Given the description of an element on the screen output the (x, y) to click on. 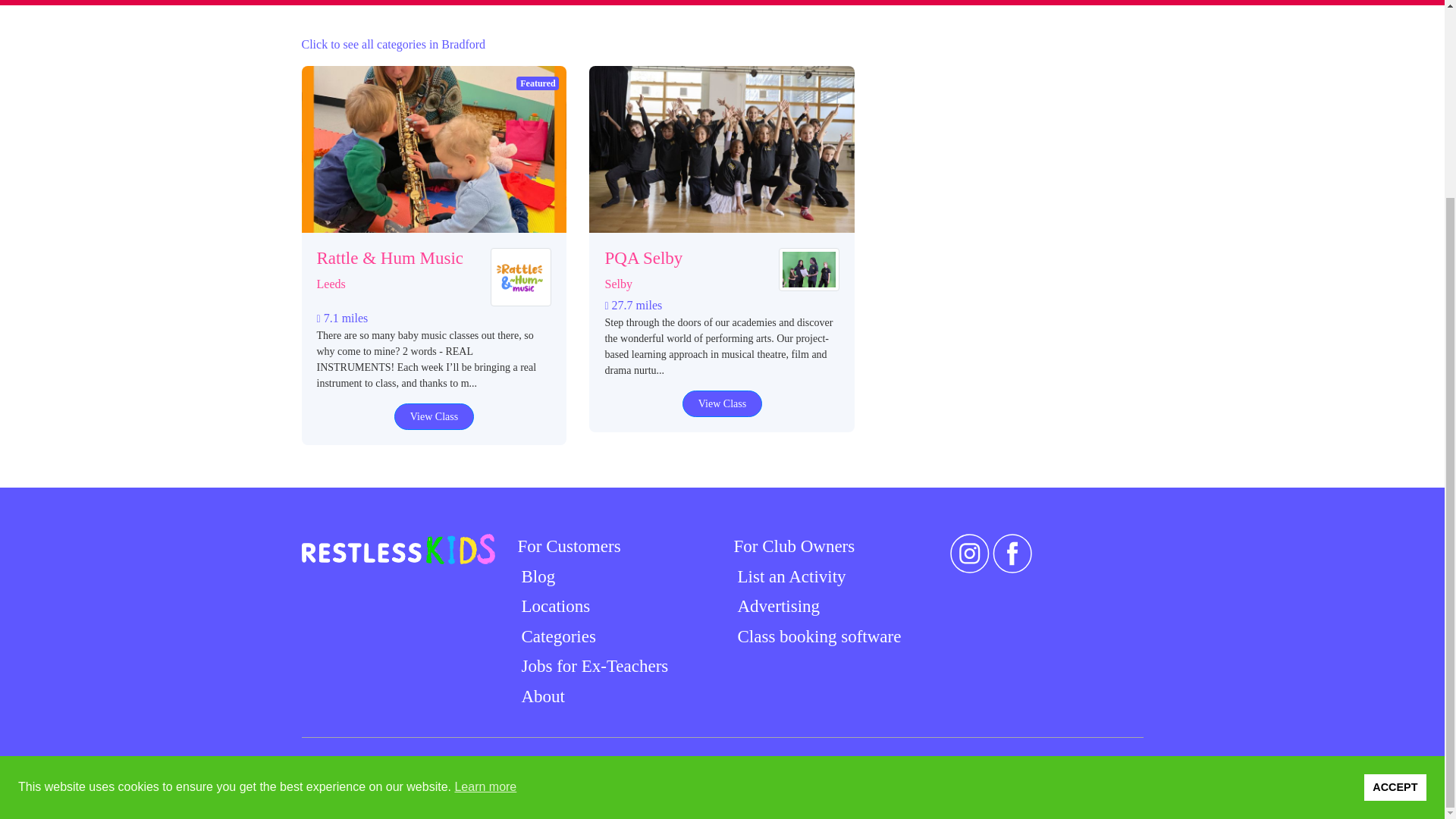
View Class (721, 403)
Advertising (777, 606)
Terms and Conditions (747, 762)
Categories (555, 636)
View Class (434, 416)
Learn more (485, 536)
About (540, 696)
Locations (552, 606)
Blog (535, 576)
Jobs for Ex-Teachers (592, 665)
ACCEPT (1395, 535)
List an Activity (789, 576)
Class booking software (817, 636)
Privacy Policy (638, 762)
Click to see all categories in Bradford (393, 43)
